Given the description of an element on the screen output the (x, y) to click on. 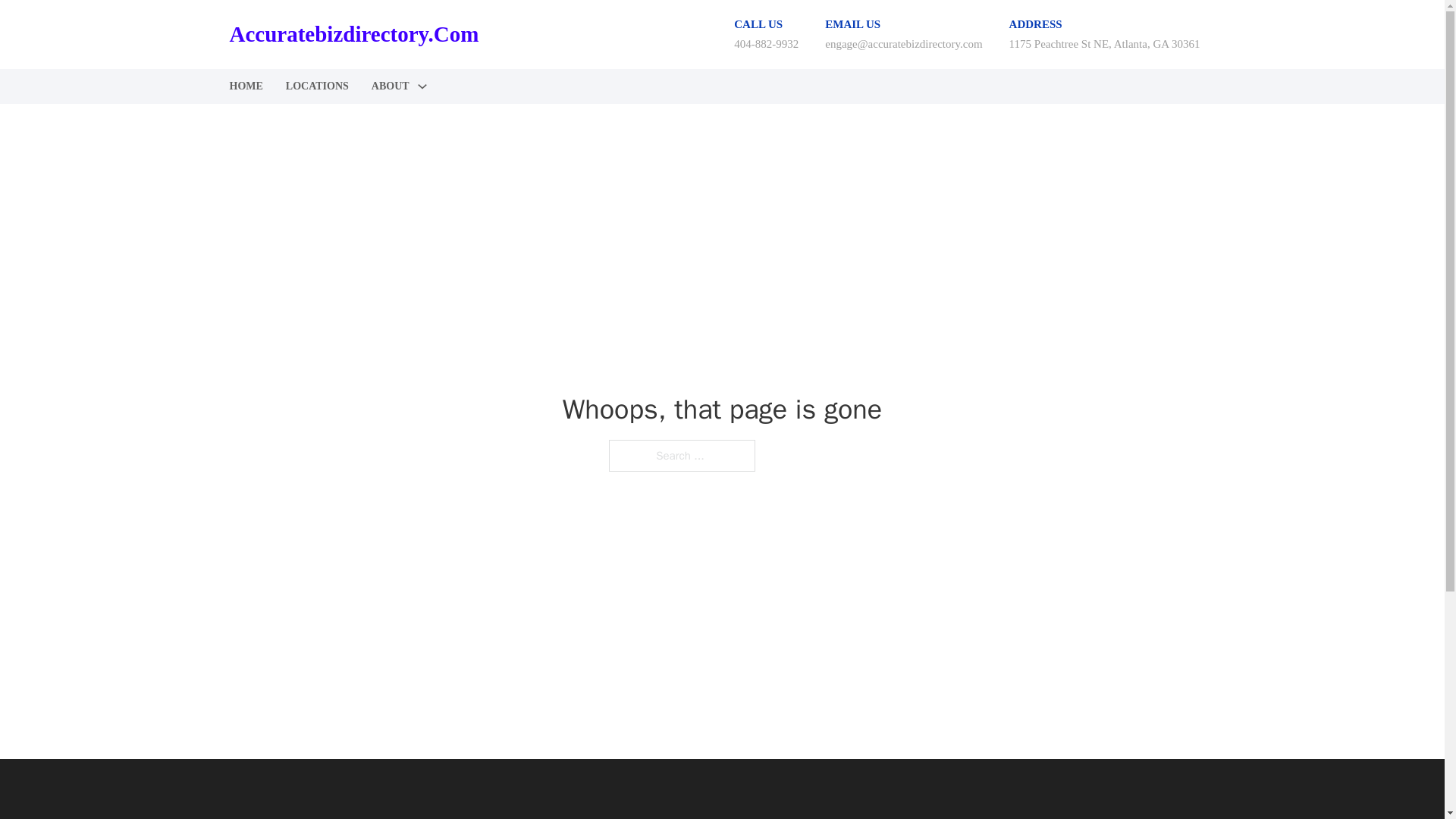
404-882-9932 (765, 43)
HOME (245, 85)
Accuratebizdirectory.Com (353, 34)
LOCATIONS (317, 85)
